Given the description of an element on the screen output the (x, y) to click on. 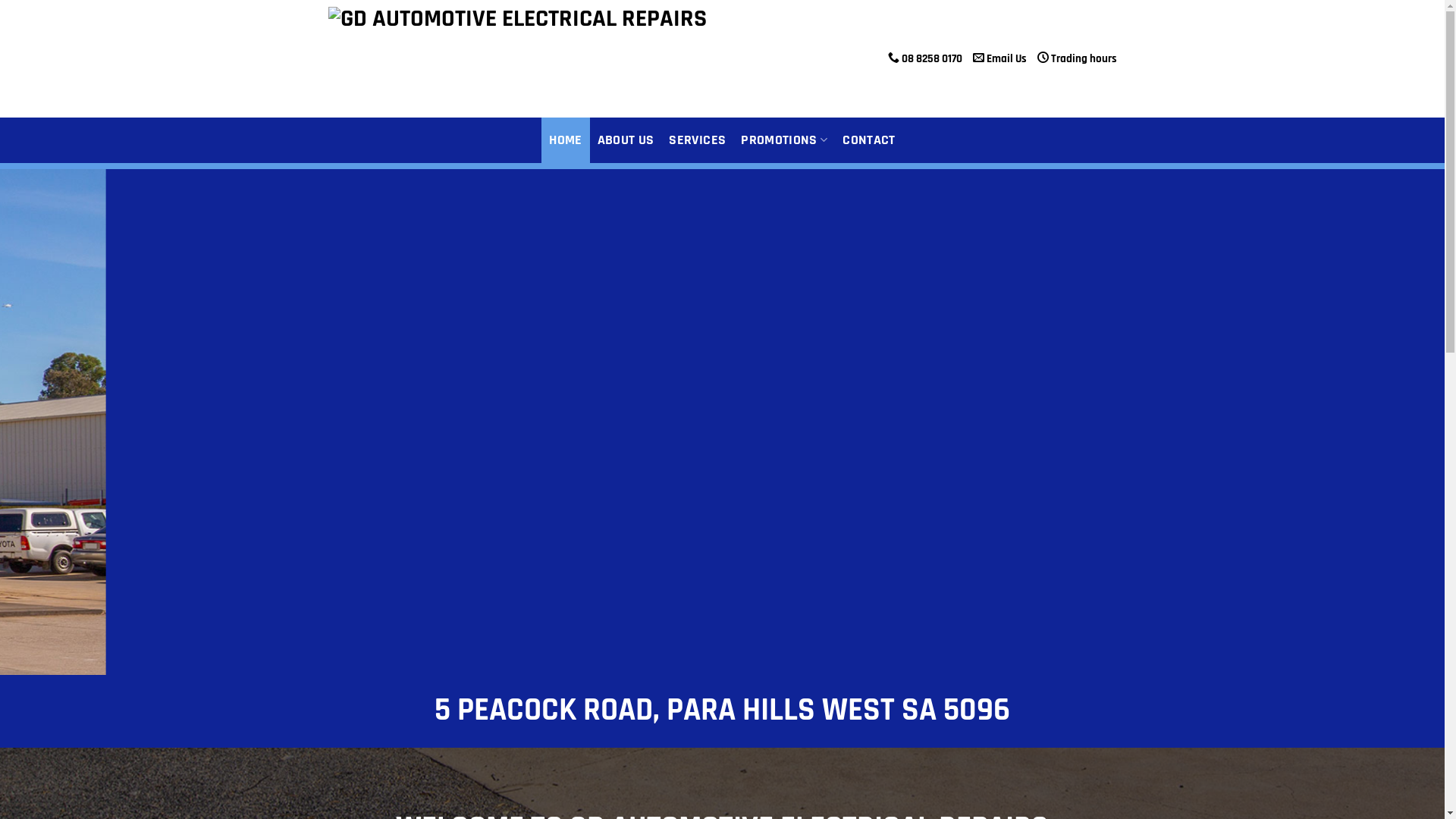
Skip to content Element type: text (0, 0)
Email Us Element type: text (999, 58)
HOME Element type: text (565, 140)
GD Automotive Electrical Repairs Element type: hover (516, 57)
PROMOTIONS Element type: text (783, 140)
CONTACT Element type: text (868, 140)
08 8258 0170 Element type: text (924, 58)
5 PEACOCK ROAD, PARA HILLS WEST SA 5096 Element type: text (722, 710)
SERVICES Element type: text (634, 472)
CONTACT Element type: text (770, 472)
ABOUT US Element type: text (625, 140)
SERVICES Element type: text (697, 140)
